Given the description of an element on the screen output the (x, y) to click on. 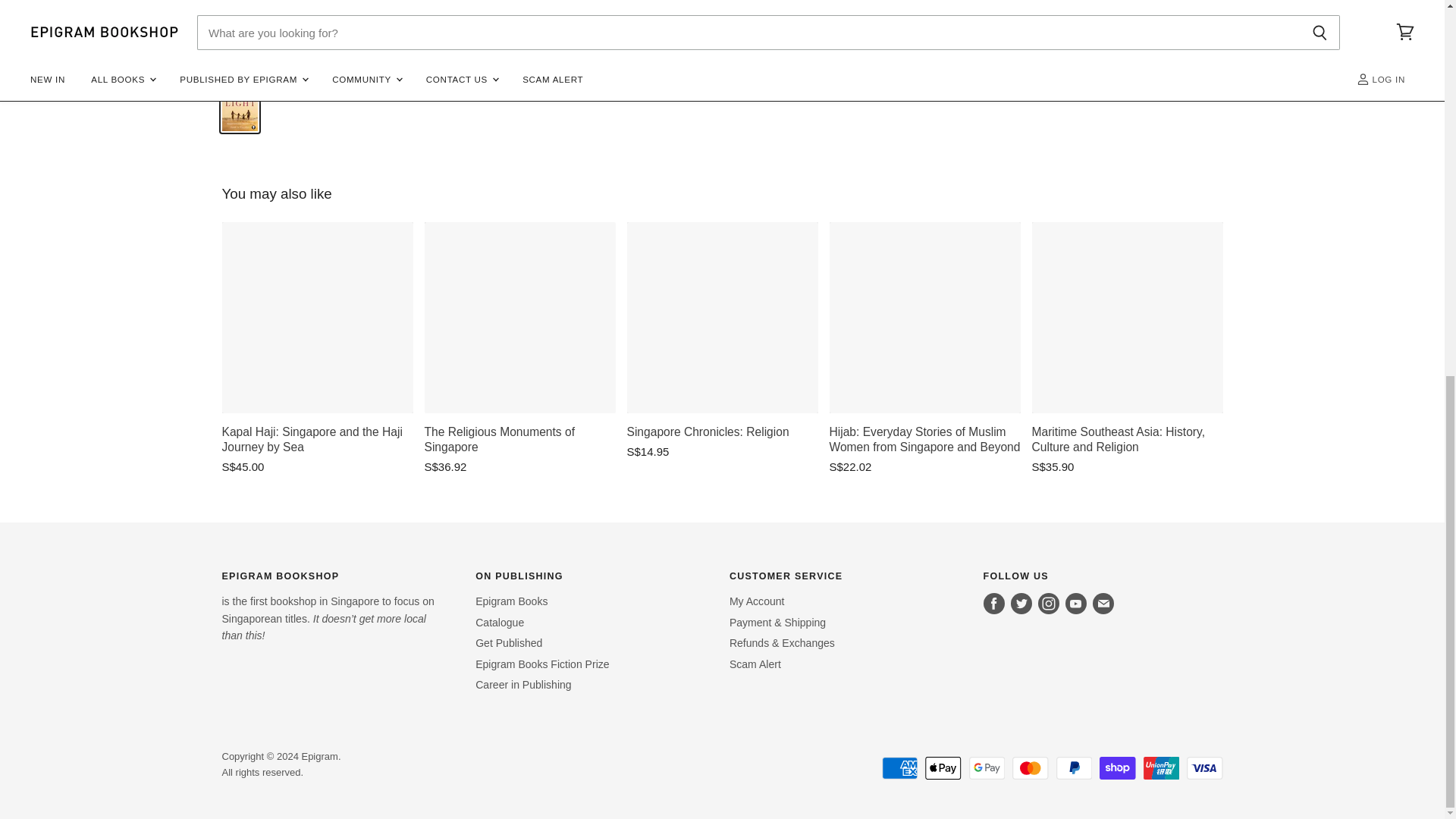
Instagram (1048, 603)
Youtube (1075, 603)
E-mail (1102, 603)
Twitter (1021, 603)
Facebook (993, 603)
